Given the description of an element on the screen output the (x, y) to click on. 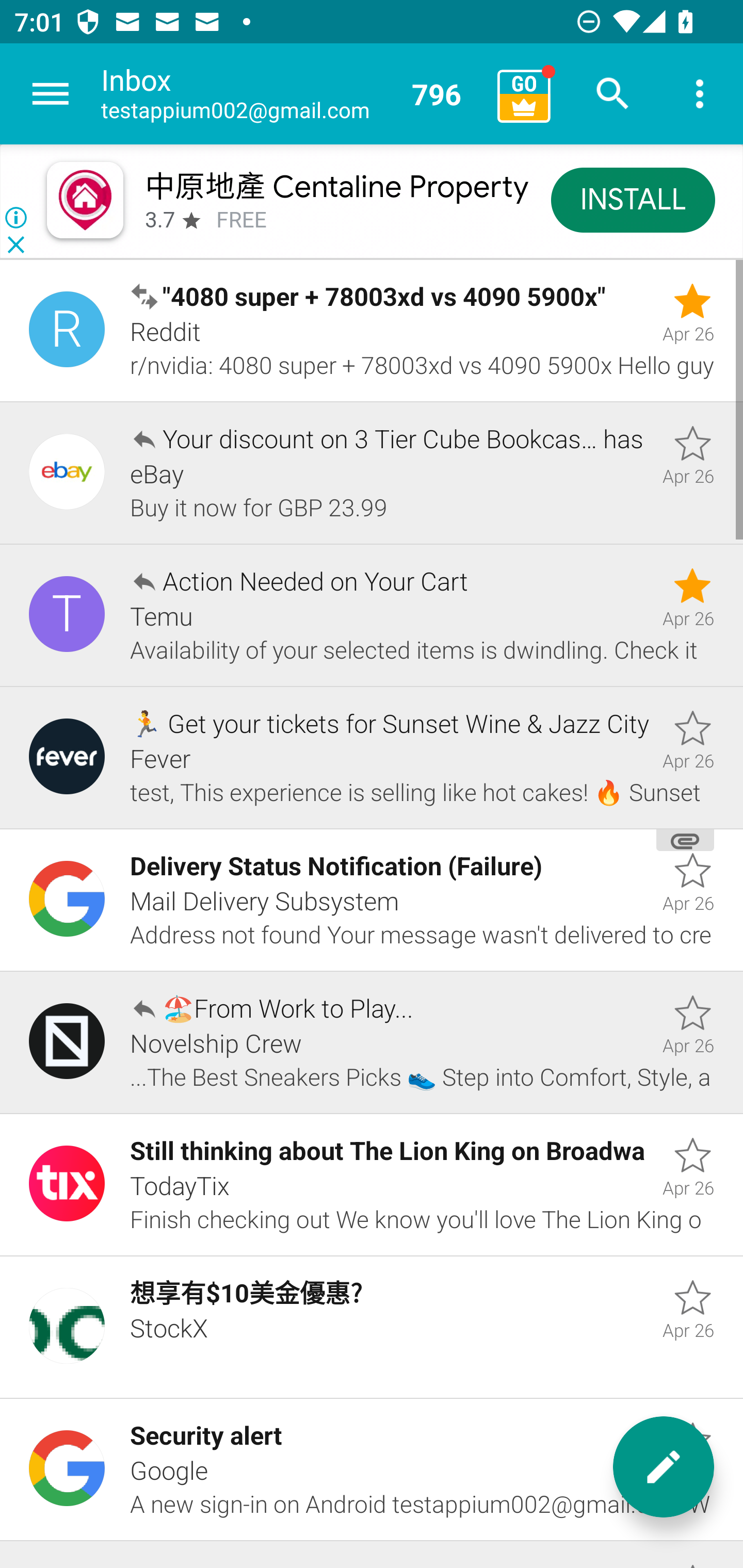
Navigate up (50, 93)
Inbox testappium002@gmail.com 796 (291, 93)
Search (612, 93)
More options (699, 93)
Unread, 想享有$10美金優惠?, StockX, Apr 26 (371, 1326)
New message (663, 1466)
